Given the description of an element on the screen output the (x, y) to click on. 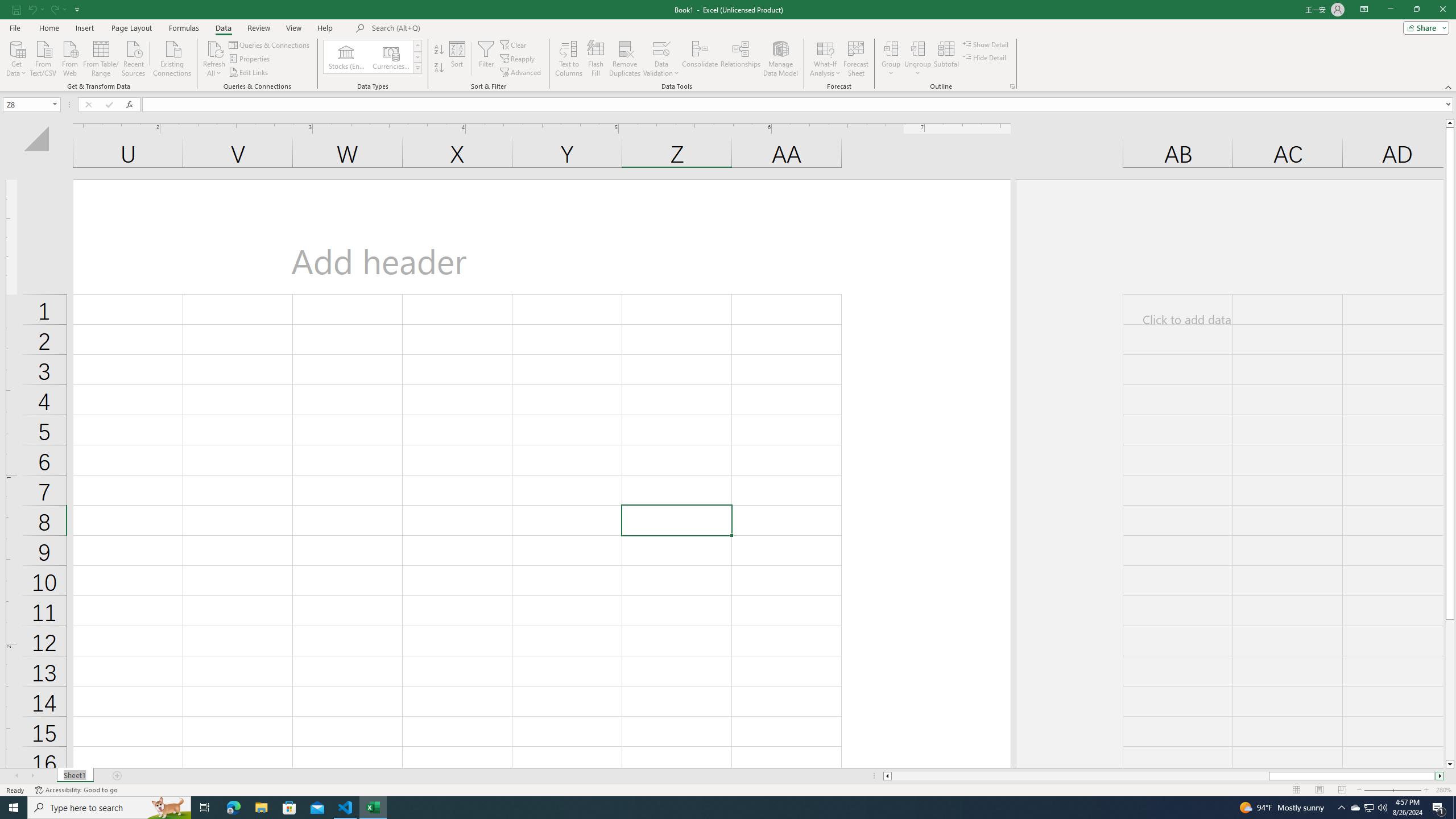
Recent Sources (133, 57)
Ungroup... (917, 48)
Zoom (1392, 790)
Refresh All (214, 58)
Queries & Connections (270, 44)
Name Box (30, 104)
